Given the description of an element on the screen output the (x, y) to click on. 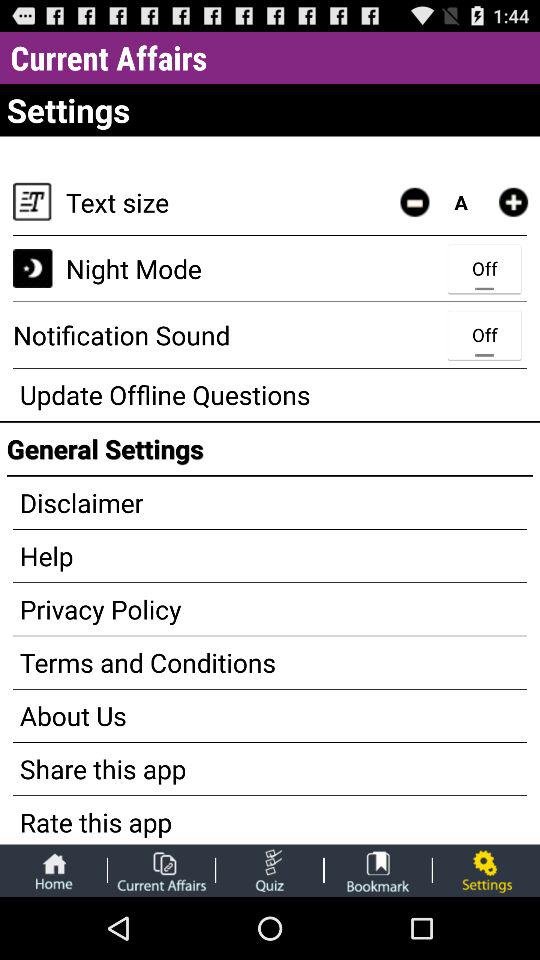
start quiz (269, 870)
